Given the description of an element on the screen output the (x, y) to click on. 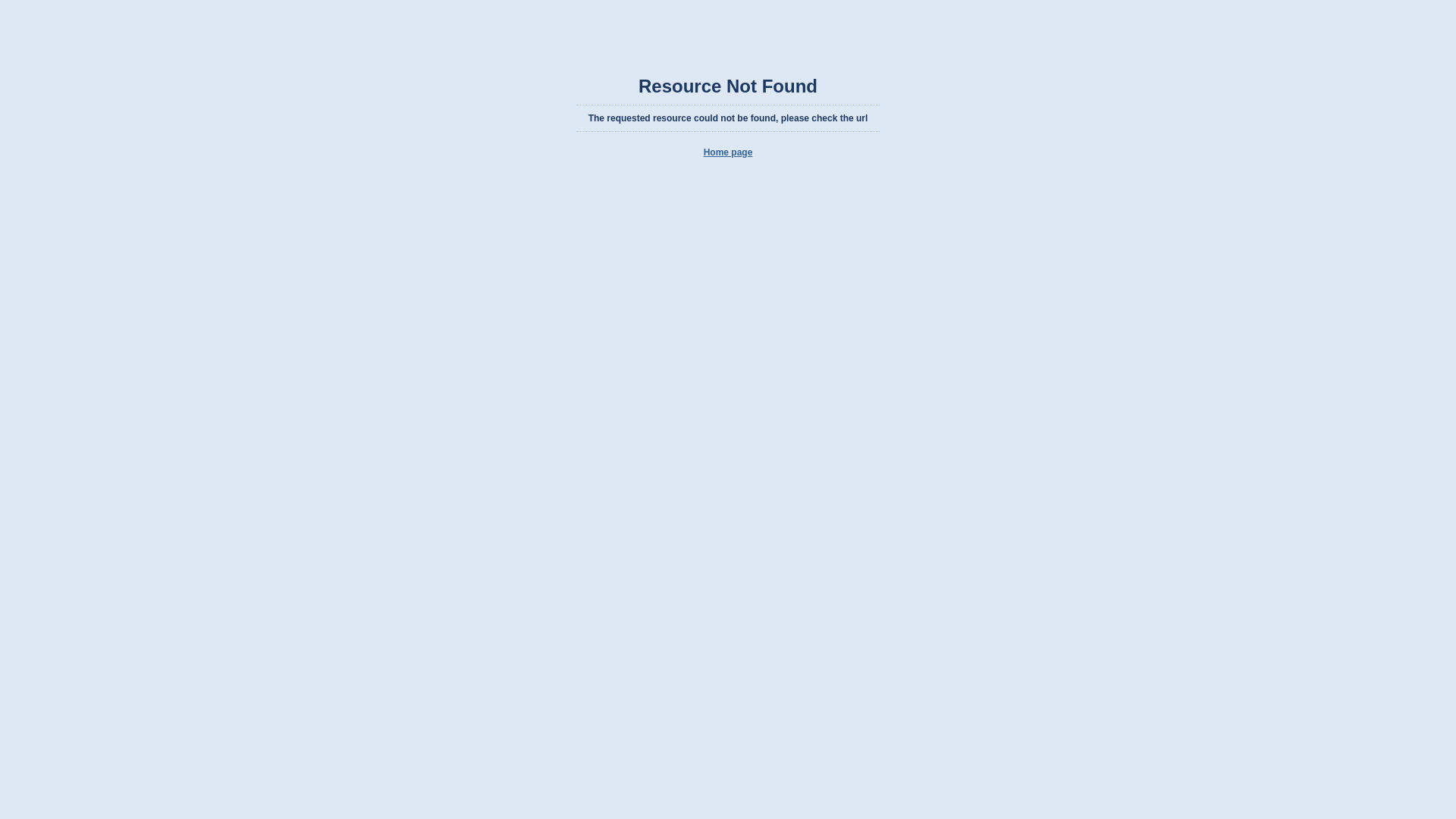
Home page Element type: text (728, 152)
